Given the description of an element on the screen output the (x, y) to click on. 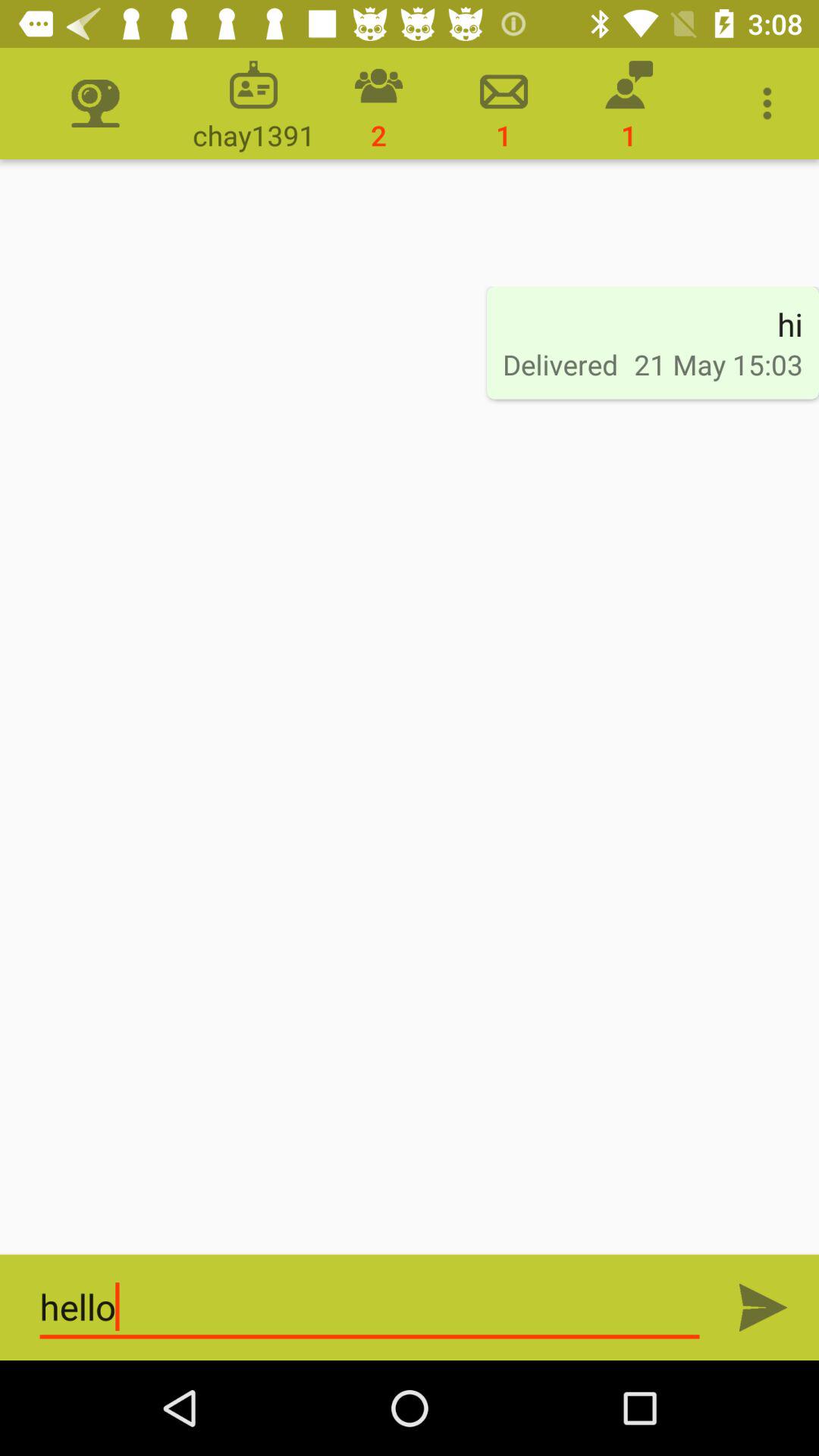
send message (763, 1307)
